Given the description of an element on the screen output the (x, y) to click on. 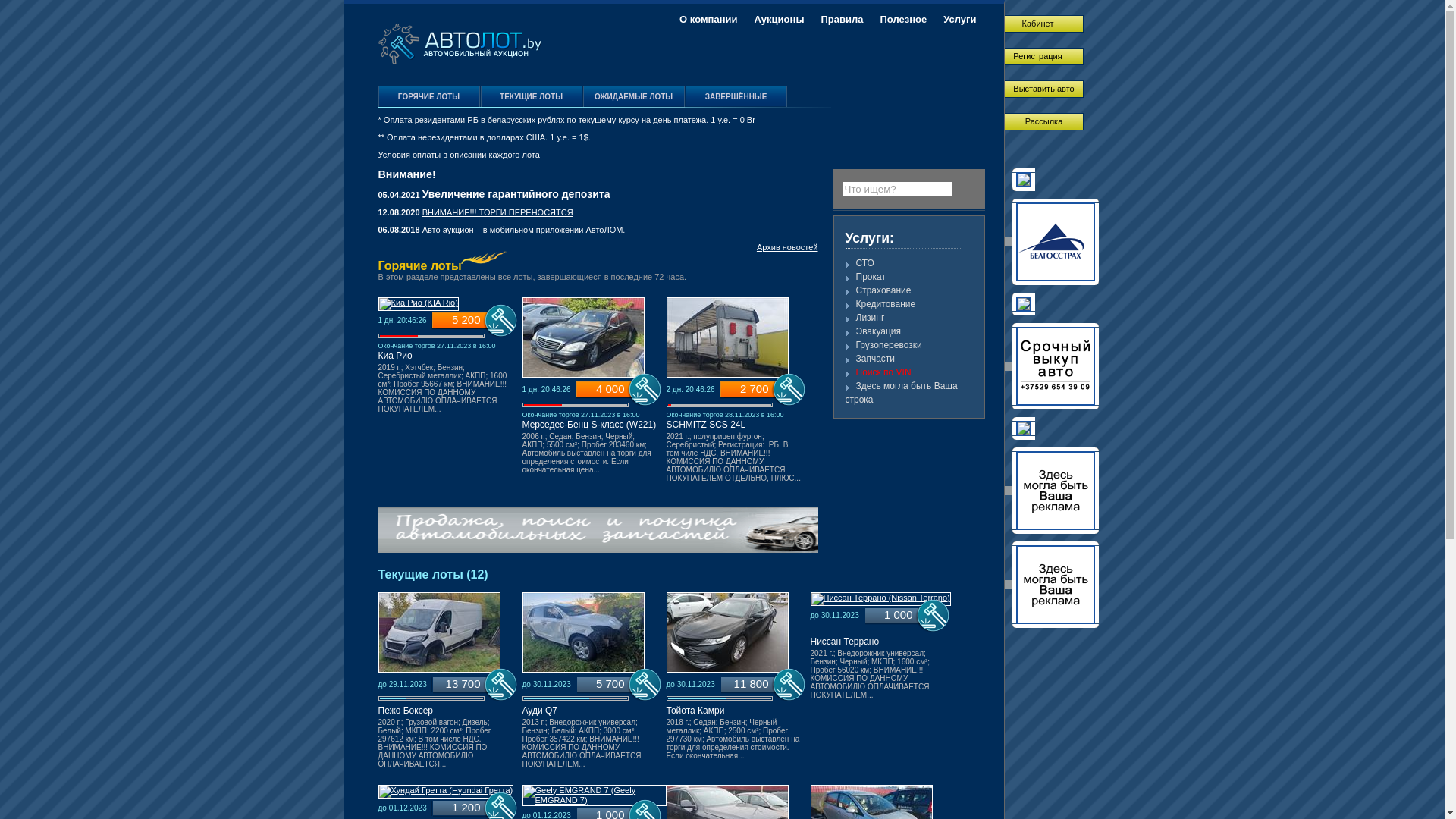
SCHMITZ SCS 24L Element type: text (705, 424)
